Given the description of an element on the screen output the (x, y) to click on. 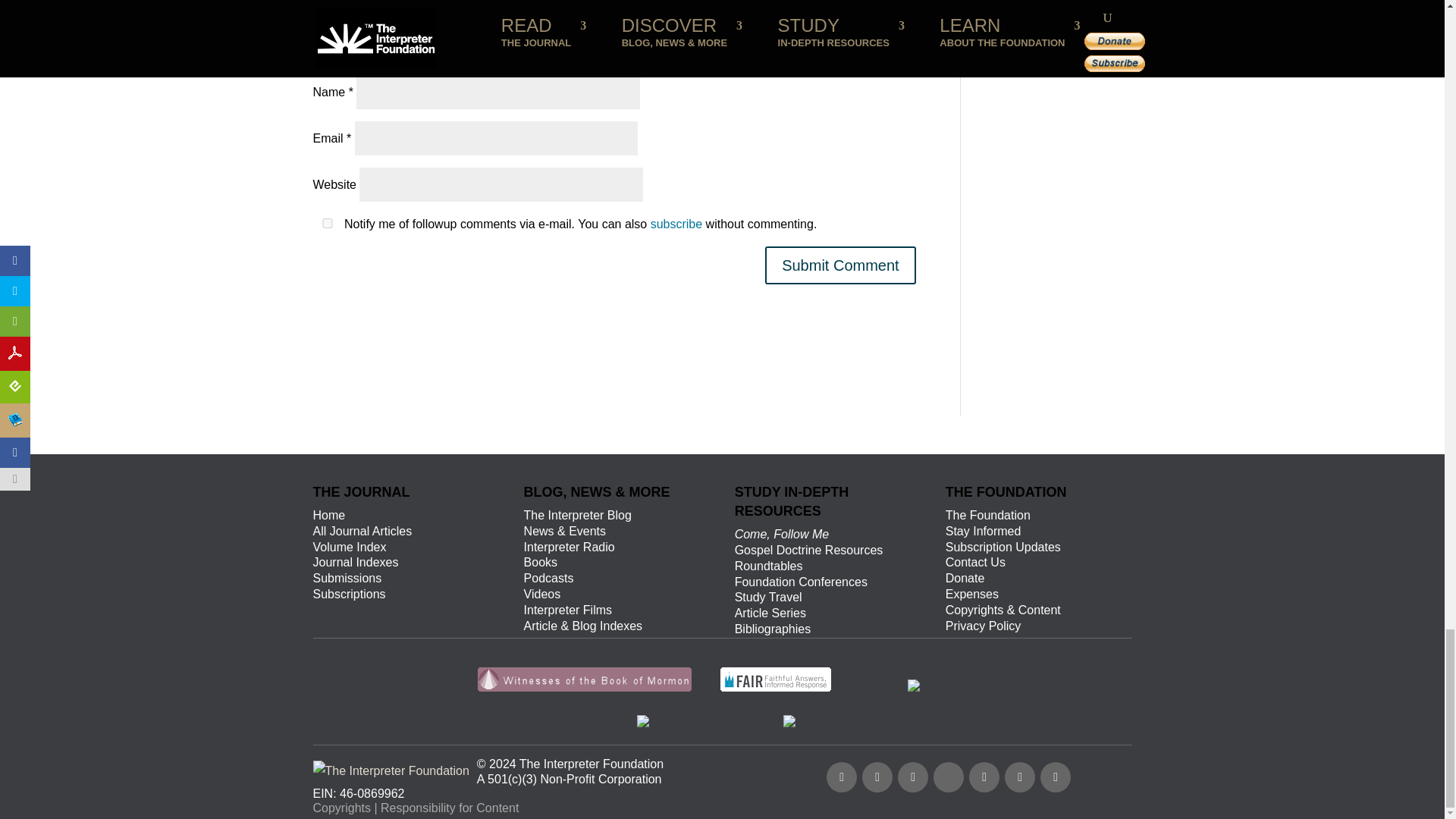
Subscribe to our mailing list (1055, 777)
Submit Comment (840, 265)
5000 (342, 57)
Follow us on Facebook (842, 777)
Subscribe to our mailing list or RSS feeds (953, 775)
Follow us on Twitter (876, 777)
Follow us on Instagram (983, 777)
Follow us on YouTube (913, 777)
Subscribe to our RSS feeds (1019, 777)
yes (326, 223)
